Given the description of an element on the screen output the (x, y) to click on. 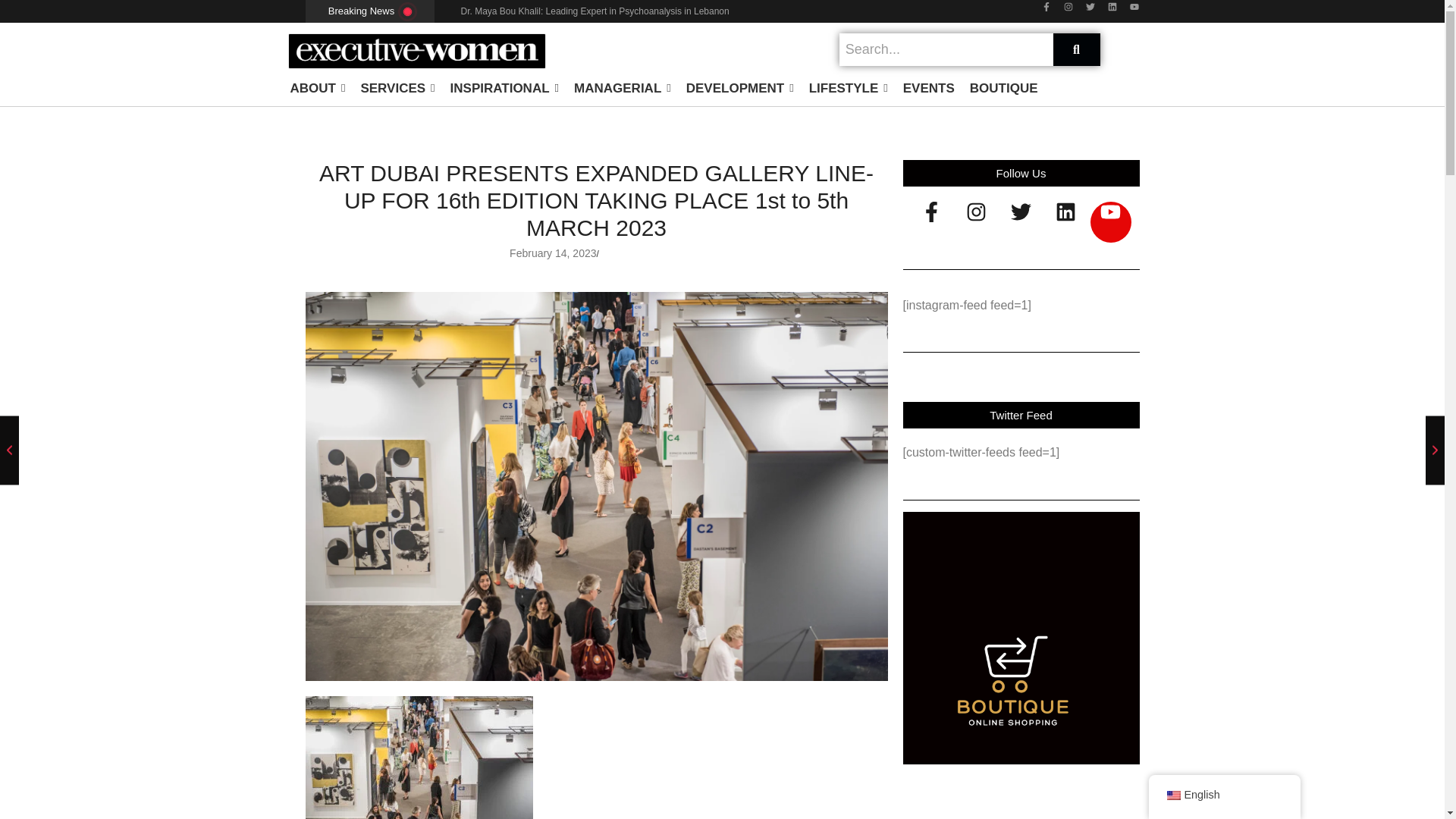
English (1172, 795)
Search (946, 49)
hgpng - Executive-Women (1013, 681)
